Given the description of an element on the screen output the (x, y) to click on. 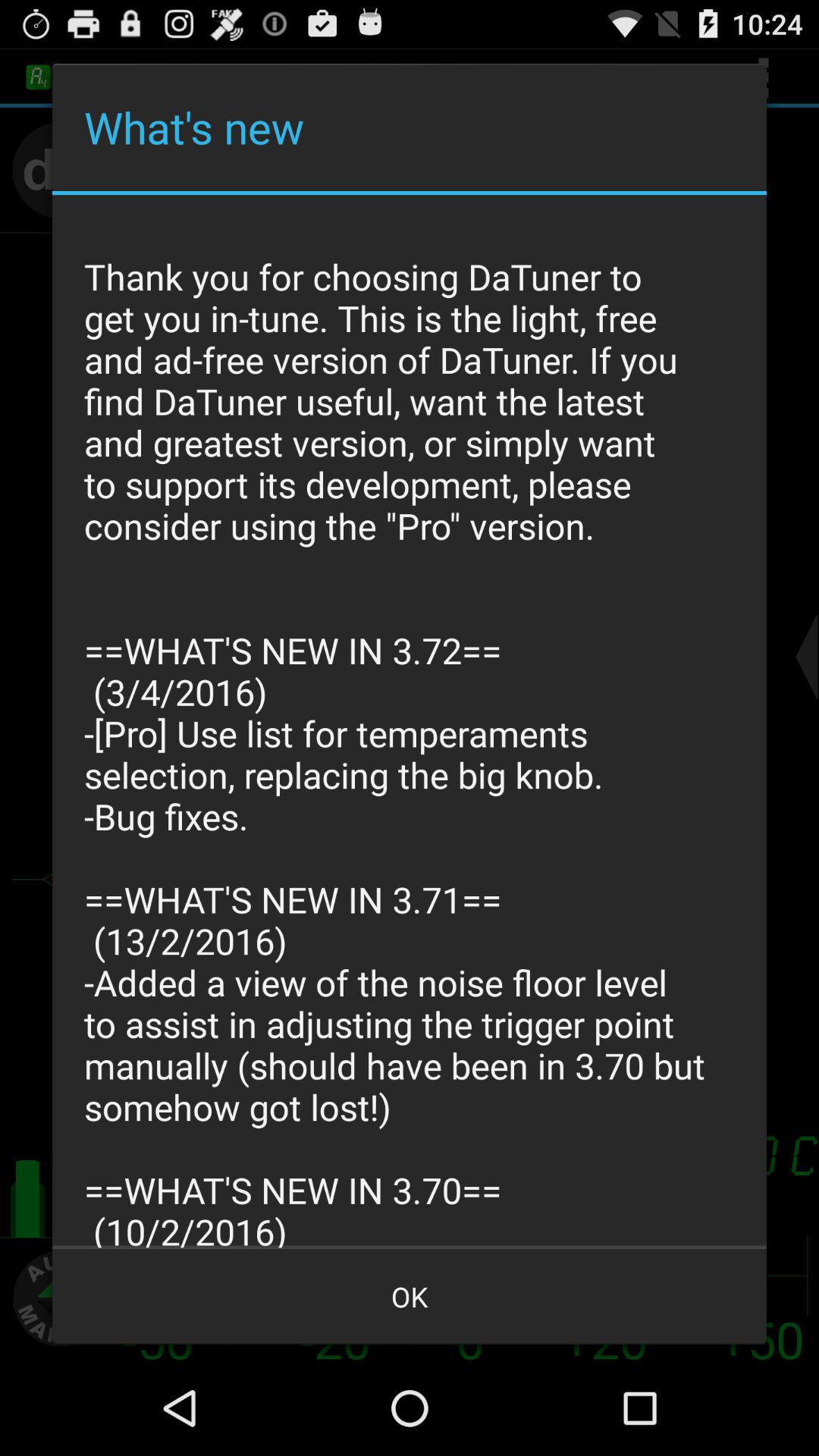
turn on app below the thank you for item (409, 1296)
